Given the description of an element on the screen output the (x, y) to click on. 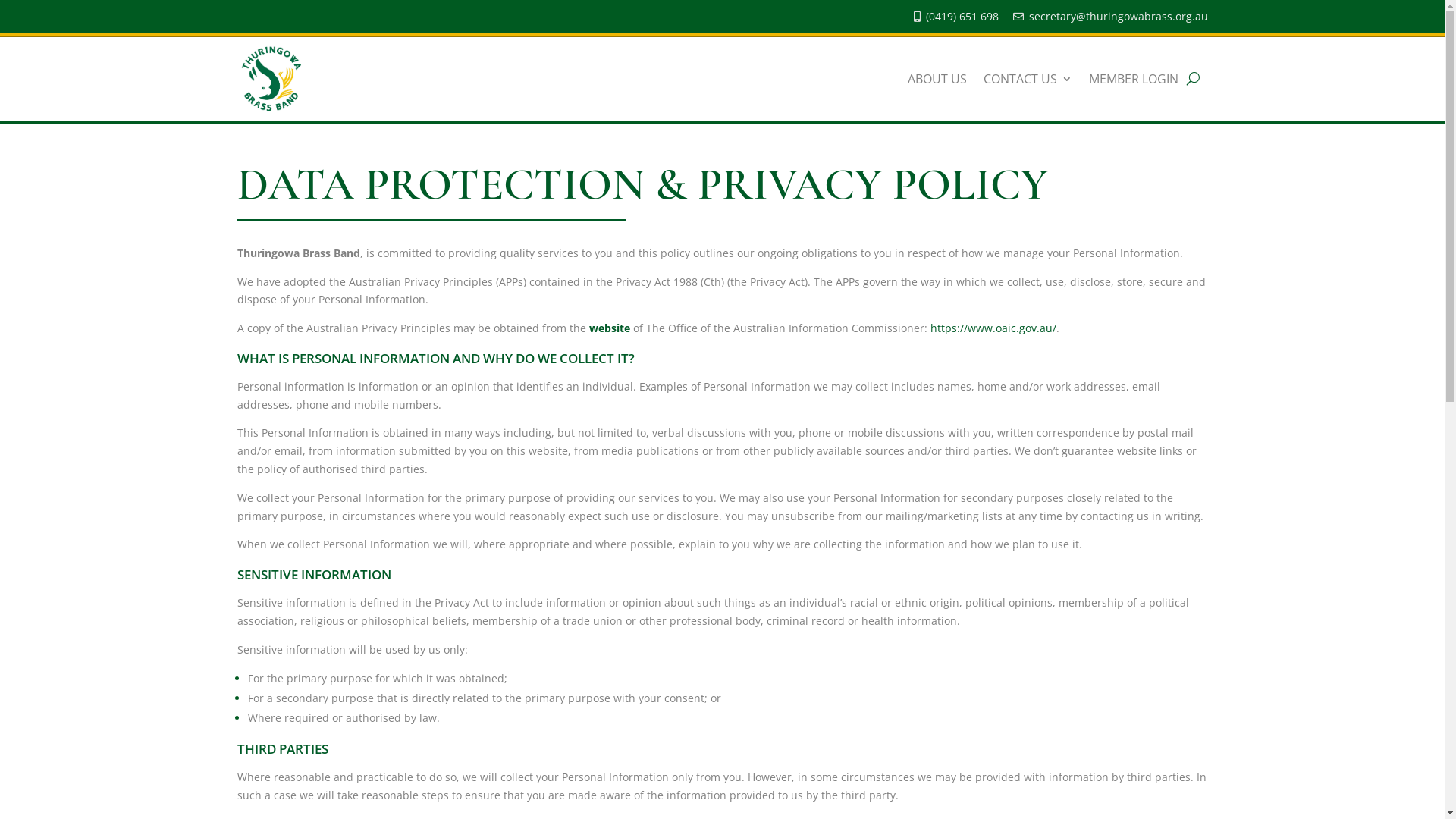
https://www.oaic.gov.au/ Element type: text (992, 327)
website Element type: text (608, 327)
secretary@thuringowabrass.org.au Element type: text (1117, 16)
(0419) 651 698 Element type: text (961, 16)
MEMBER LOGIN Element type: text (1133, 78)
ABOUT US Element type: text (936, 78)
CONTACT US Element type: text (1026, 78)
